Given the description of an element on the screen output the (x, y) to click on. 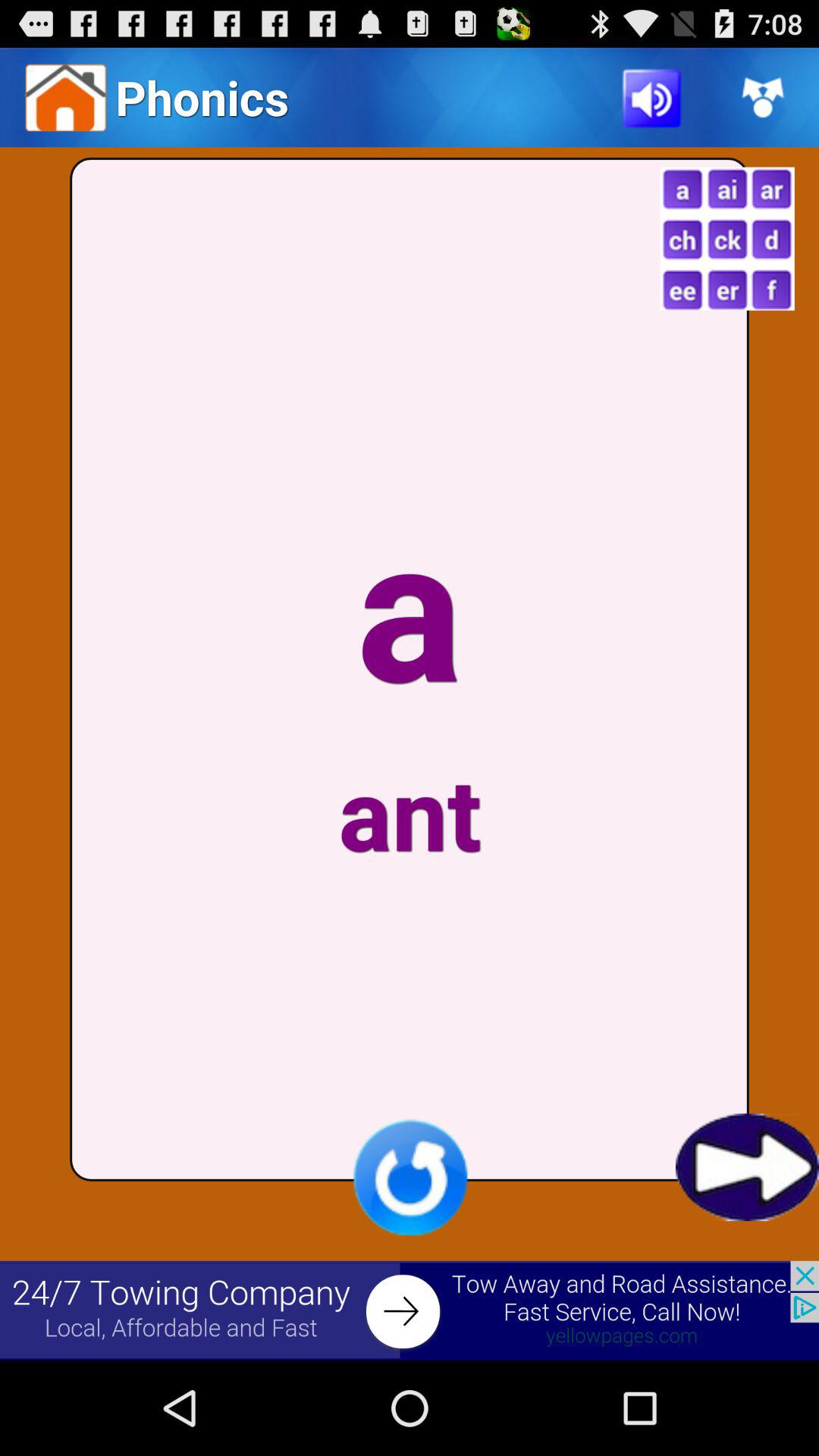
menu button (727, 238)
